Given the description of an element on the screen output the (x, y) to click on. 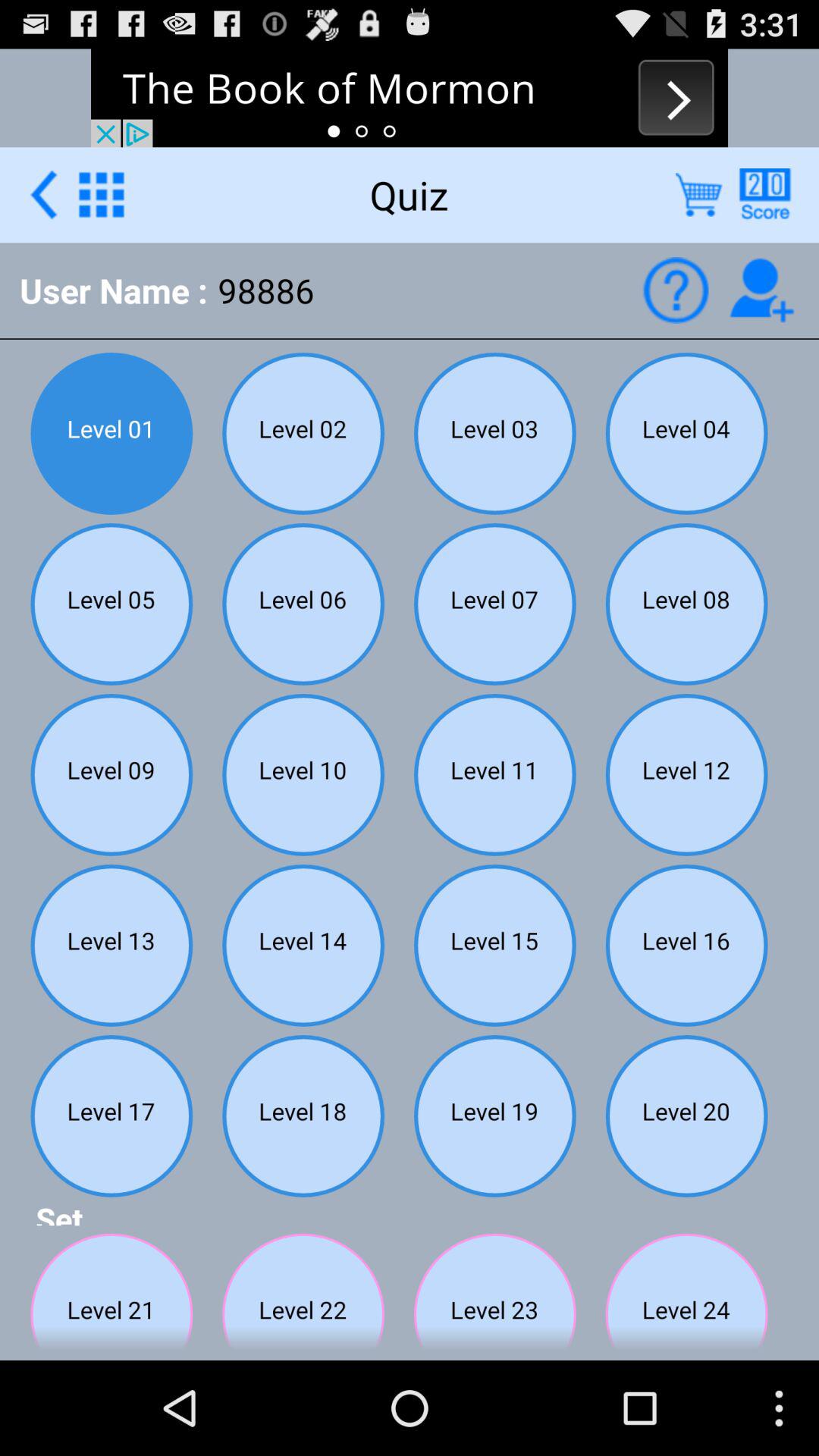
quiz what button (675, 290)
